Given the description of an element on the screen output the (x, y) to click on. 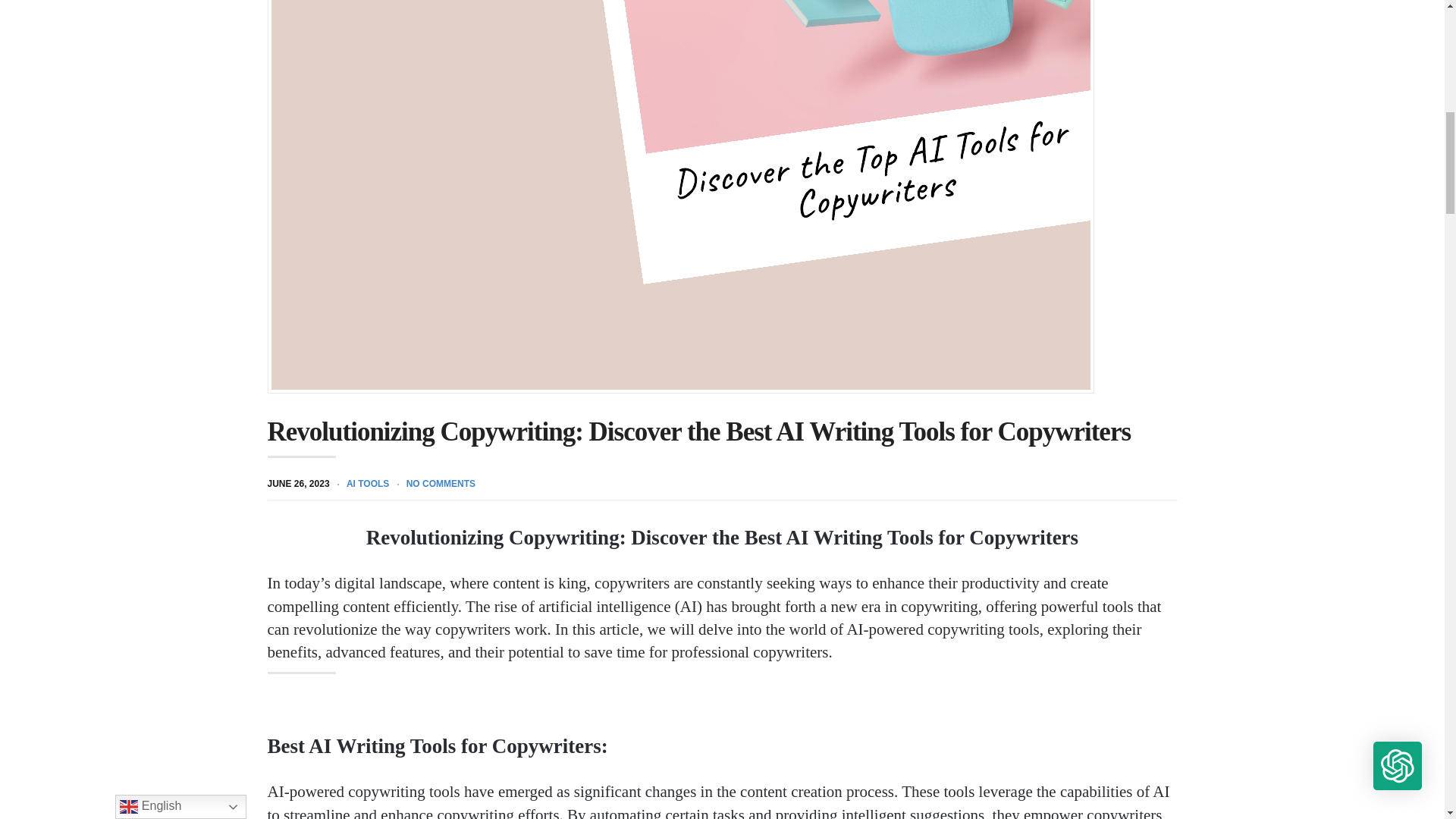
AI TOOLS (367, 483)
NO COMMENTS (441, 483)
